Given the description of an element on the screen output the (x, y) to click on. 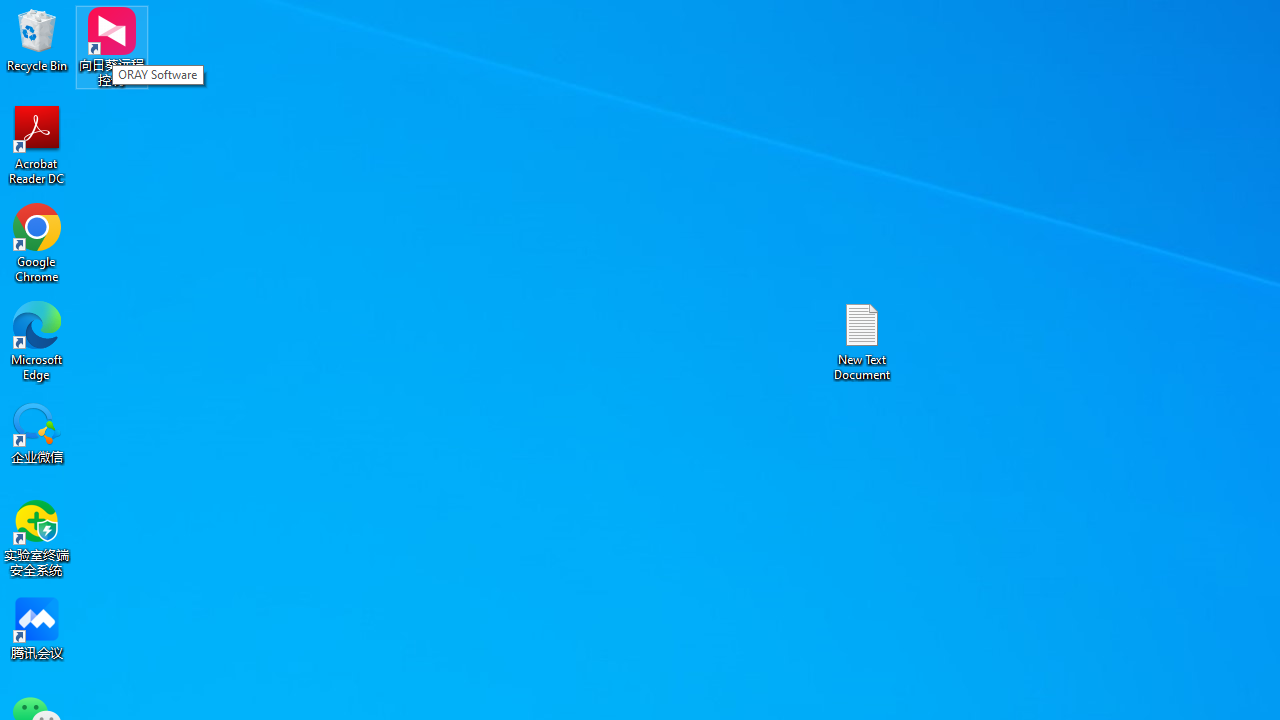
Acrobat Reader DC (37, 144)
Recycle Bin (37, 39)
Microsoft Edge (37, 340)
New Text Document (861, 340)
Google Chrome (37, 242)
